Given the description of an element on the screen output the (x, y) to click on. 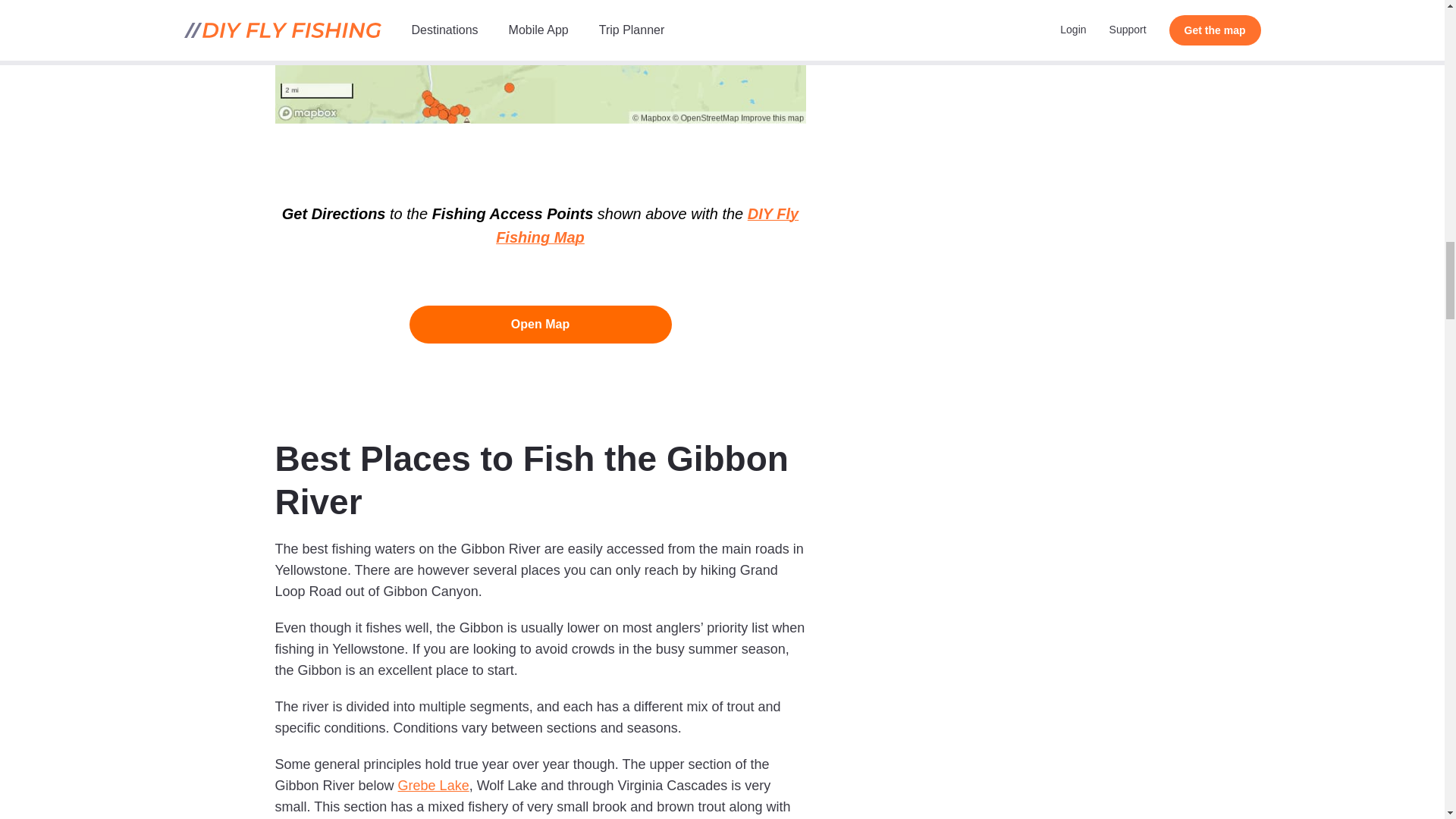
Grebe Lake (432, 785)
Open Map (540, 324)
DIY Fly Fishing Map (646, 225)
